Given the description of an element on the screen output the (x, y) to click on. 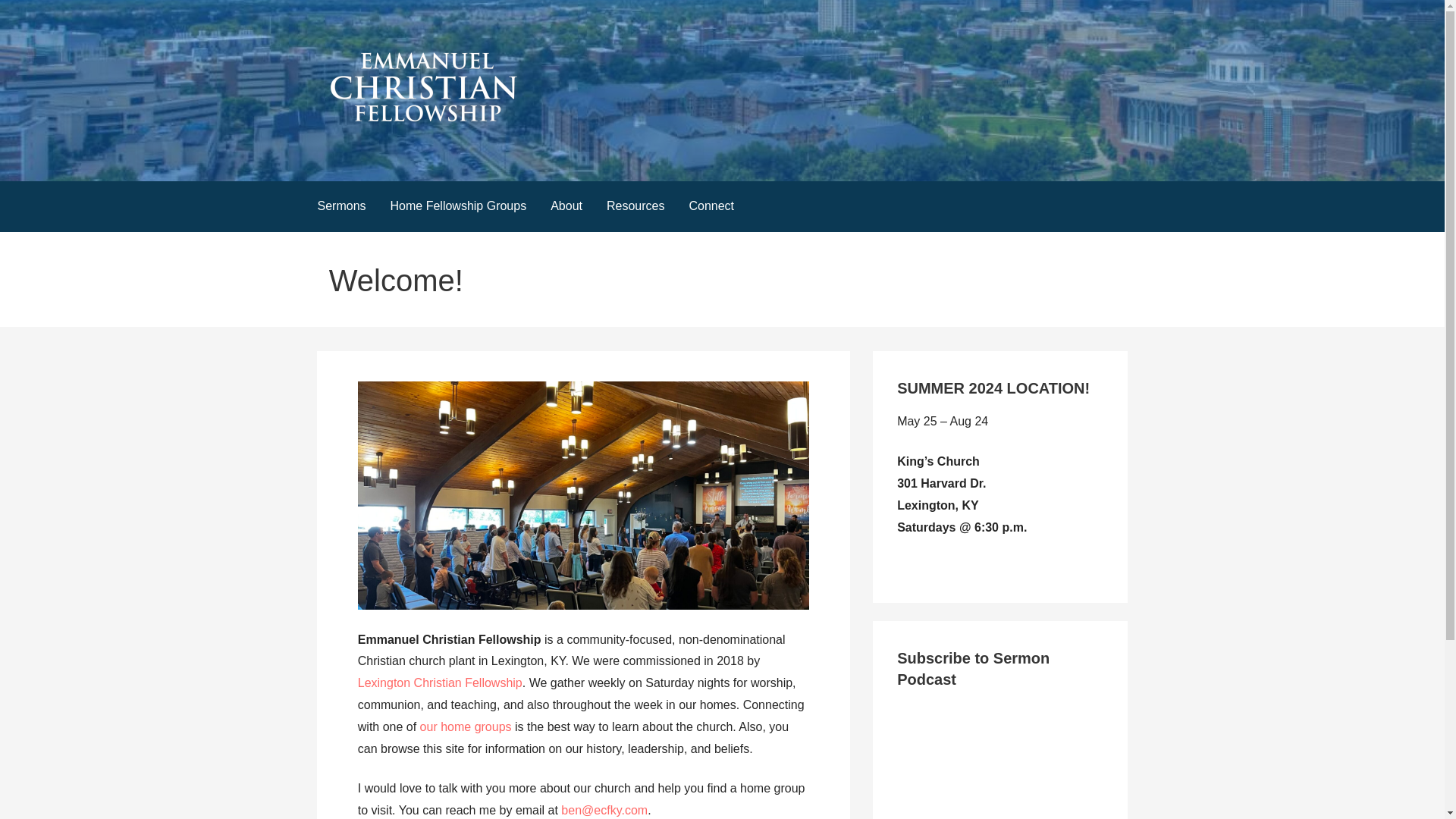
About (566, 205)
Emmanuel Christian Fellowship (502, 149)
Resources (635, 205)
Lexington Christian Fellowship (440, 682)
Connect (711, 205)
Sermons (340, 205)
our home groups (466, 726)
Home Fellowship Groups (458, 205)
